Given the description of an element on the screen output the (x, y) to click on. 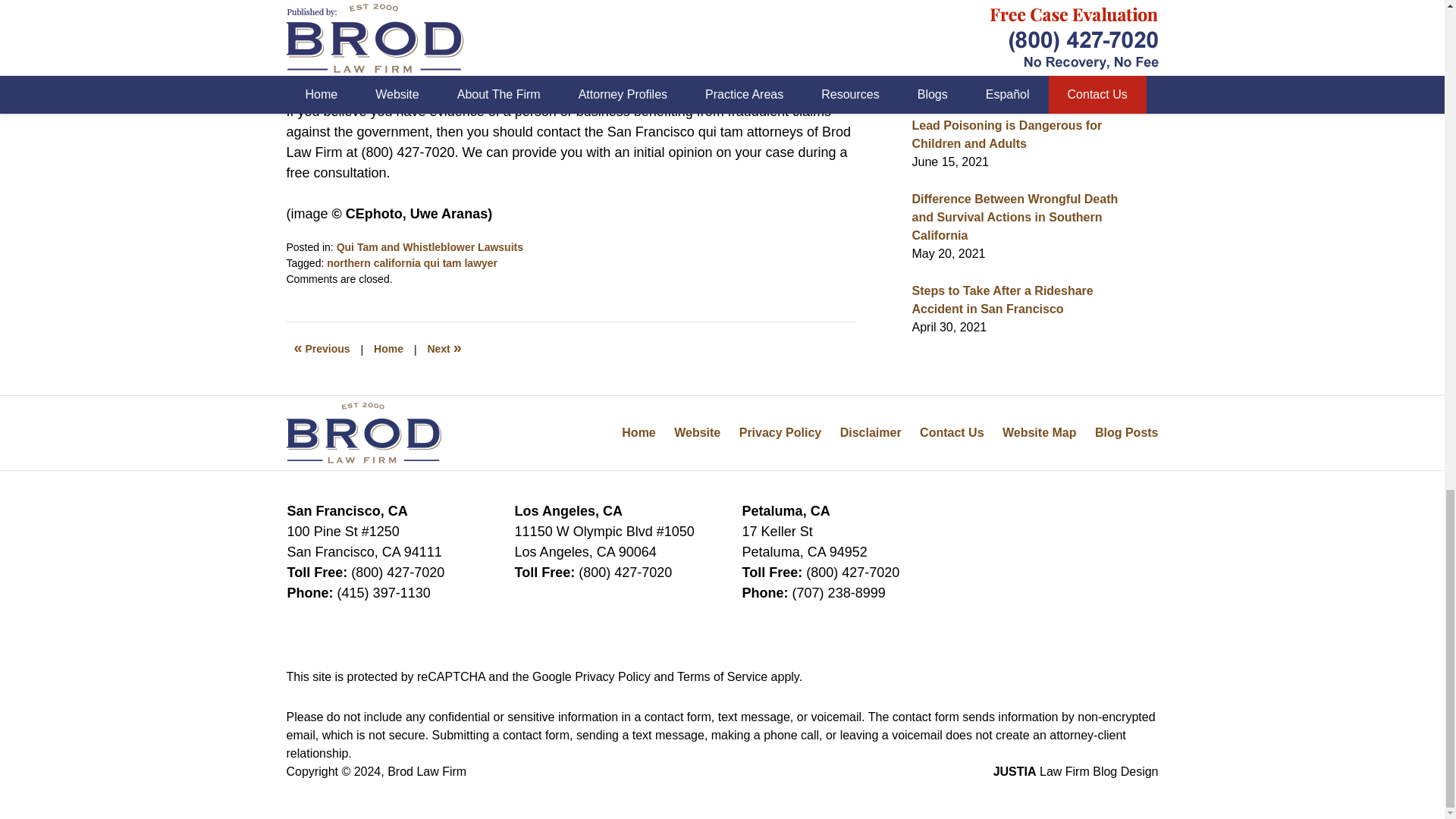
Signs You Have Bed Bugs (322, 349)
Home (388, 349)
View all posts in Qui Tam and Whistleblower Lawsuits (429, 246)
Qui Tam and Whistleblower Lawsuits (429, 246)
northern california qui tam lawyer (411, 263)
